Given the description of an element on the screen output the (x, y) to click on. 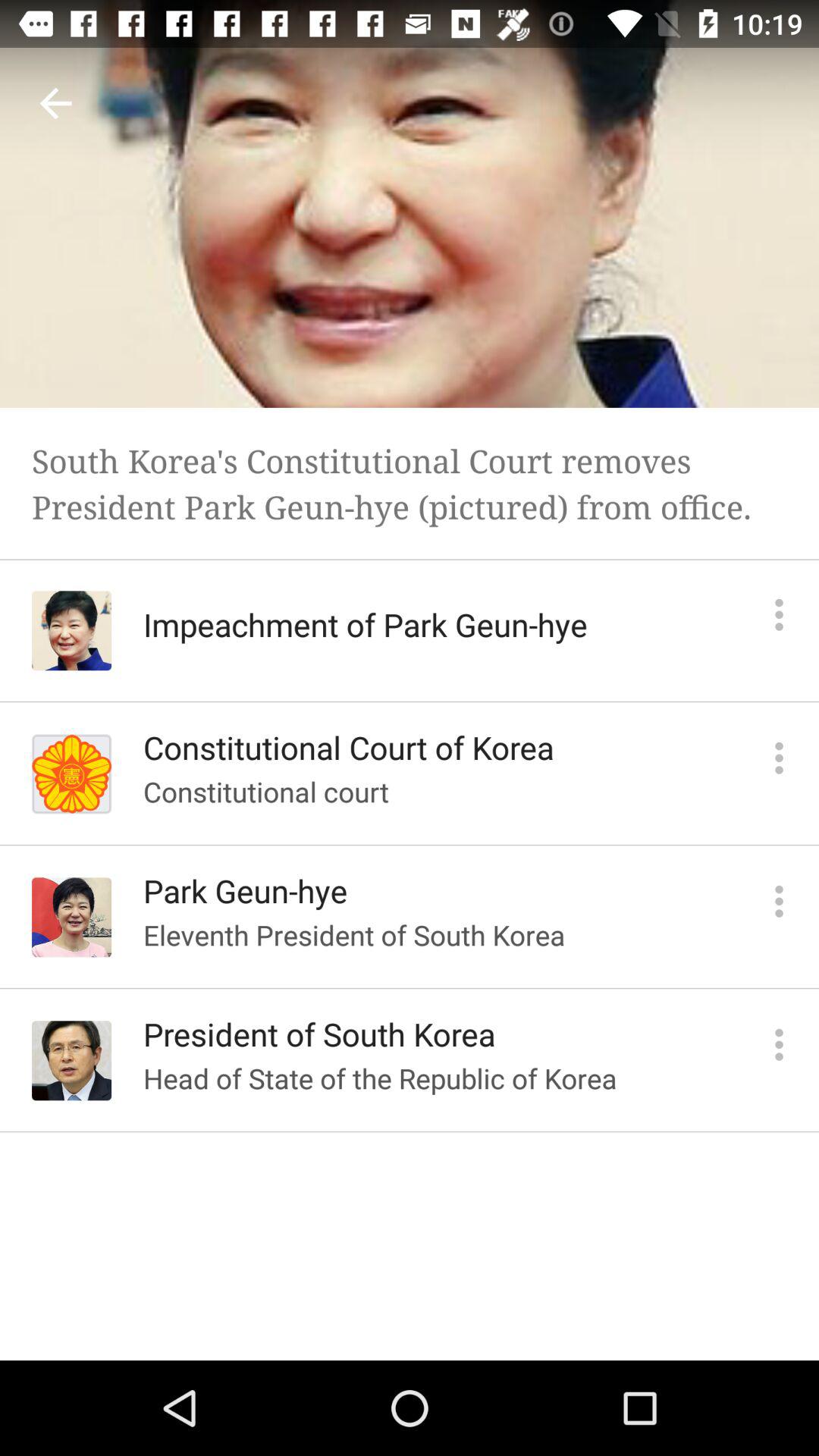
three vertical dots that will expand into a new menu (779, 757)
